Given the description of an element on the screen output the (x, y) to click on. 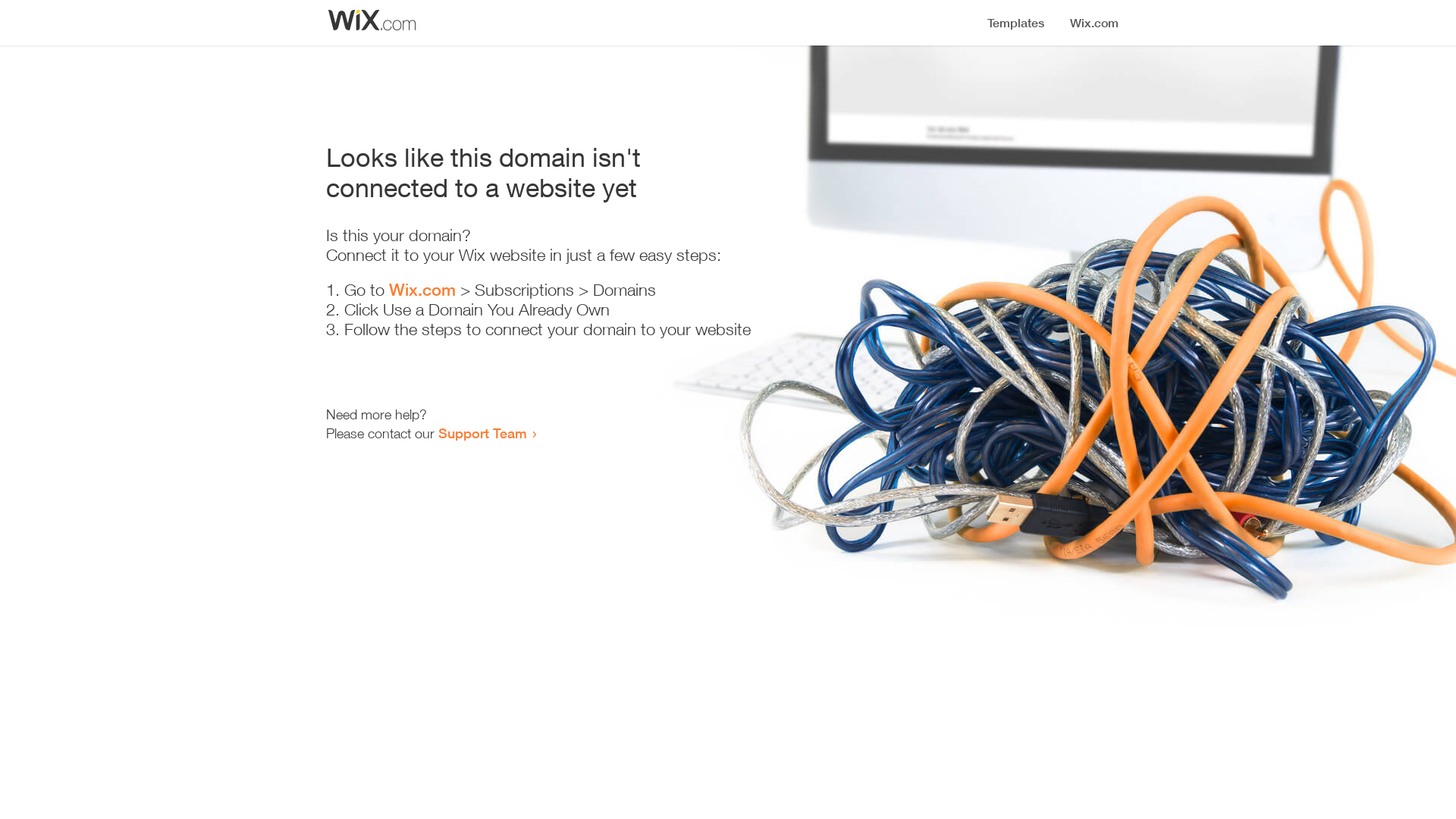
Wix.com Element type: text (422, 289)
Support Team Element type: text (482, 432)
